Given the description of an element on the screen output the (x, y) to click on. 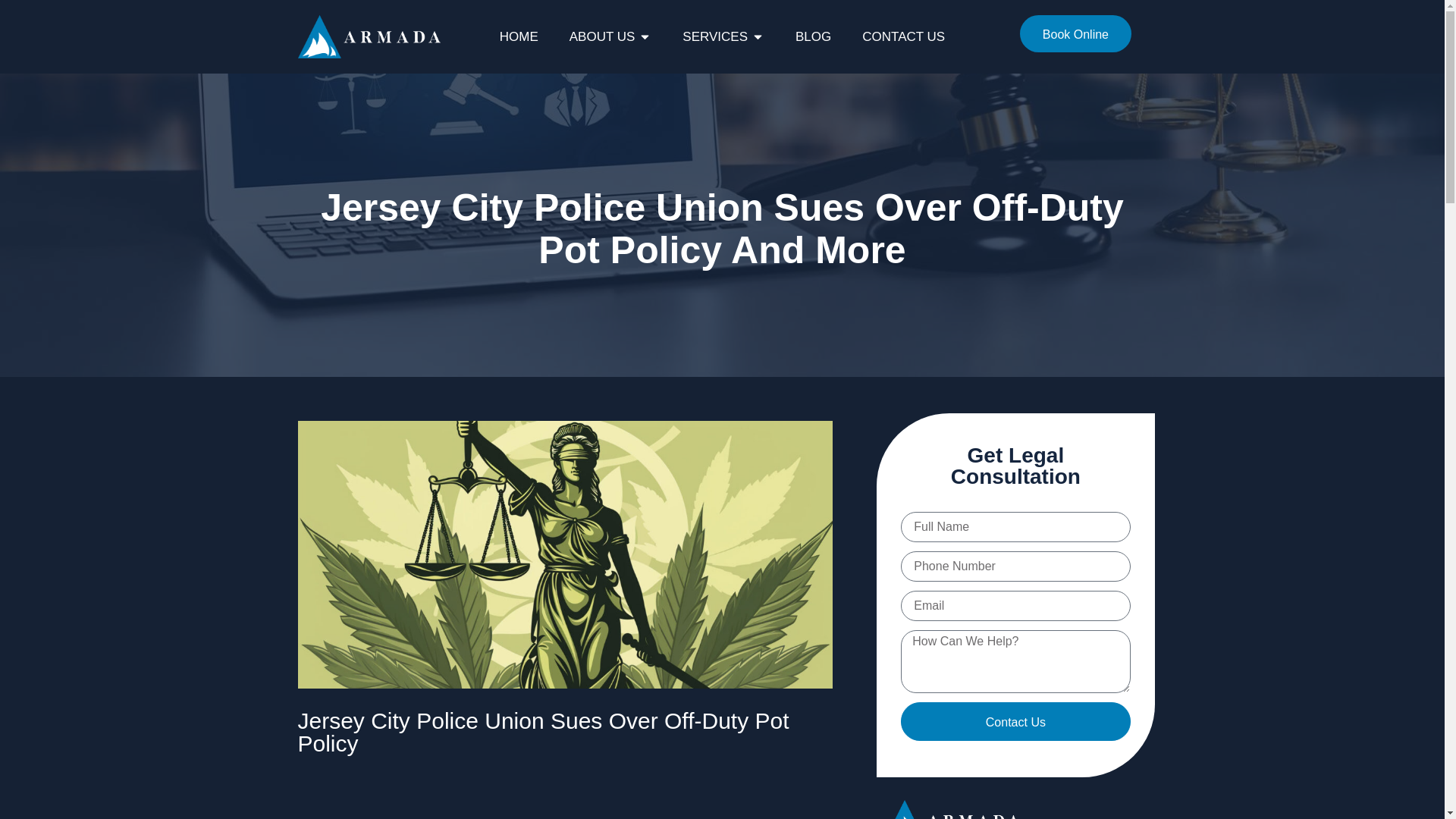
HOME (518, 37)
BLOG (812, 37)
ABOUT US (601, 37)
Book Online (1075, 33)
CONTACT US (902, 37)
SERVICES (715, 37)
